Given the description of an element on the screen output the (x, y) to click on. 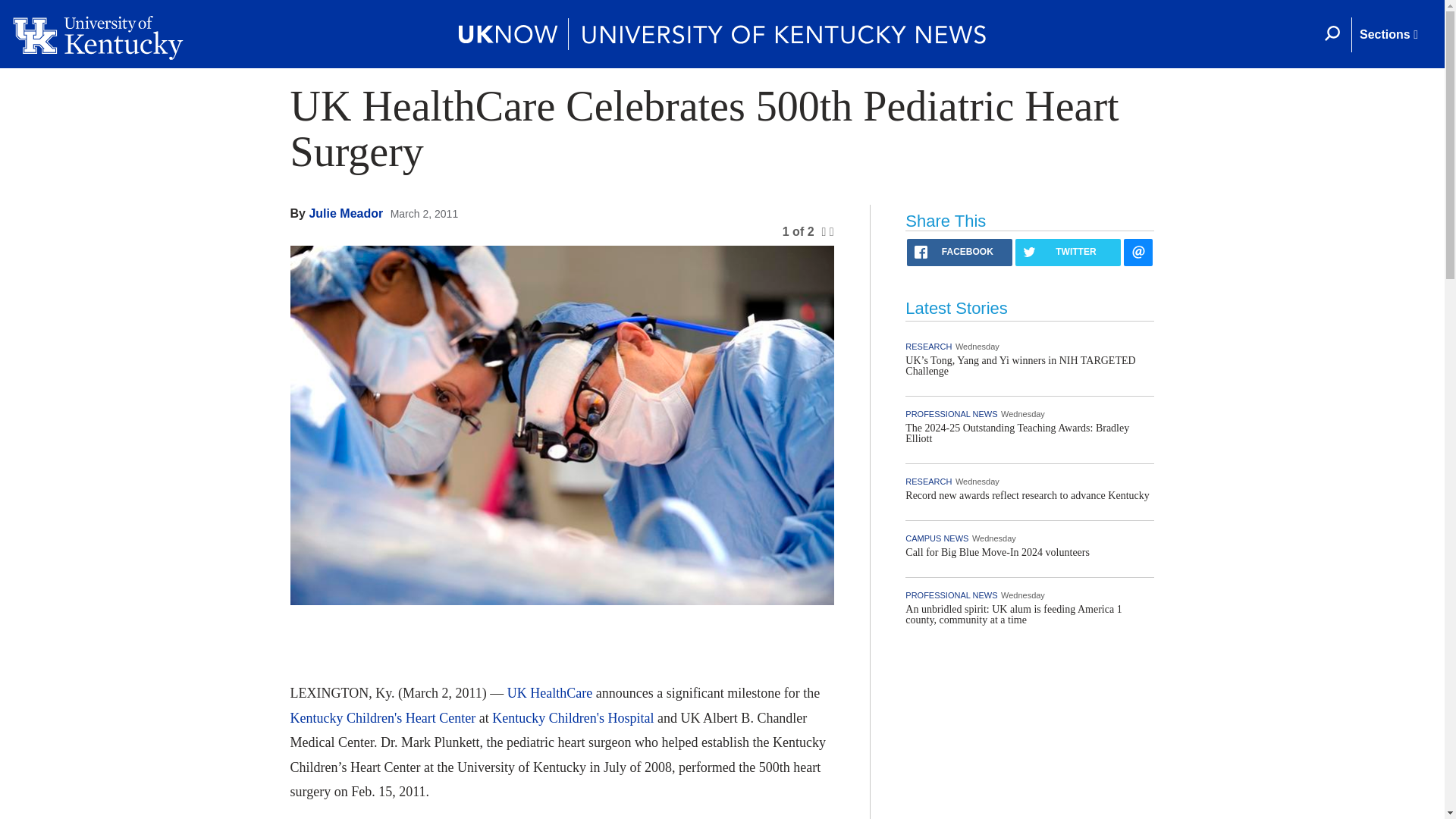
Kentucky Children's Hospital (572, 717)
Kentucky Children's Heart Center (382, 717)
Julie Meador (345, 213)
TWITTER (1067, 252)
Section navigation menu (1388, 34)
FACEBOOK (959, 252)
Record new awards reflect research to advance Kentucky (1026, 495)
Sections (1388, 34)
The 2024-25 Outstanding Teaching Awards: Bradley Elliott (1017, 433)
Call for Big Blue Move-In 2024 volunteers (997, 552)
UK HealthCare (549, 693)
